Given the description of an element on the screen output the (x, y) to click on. 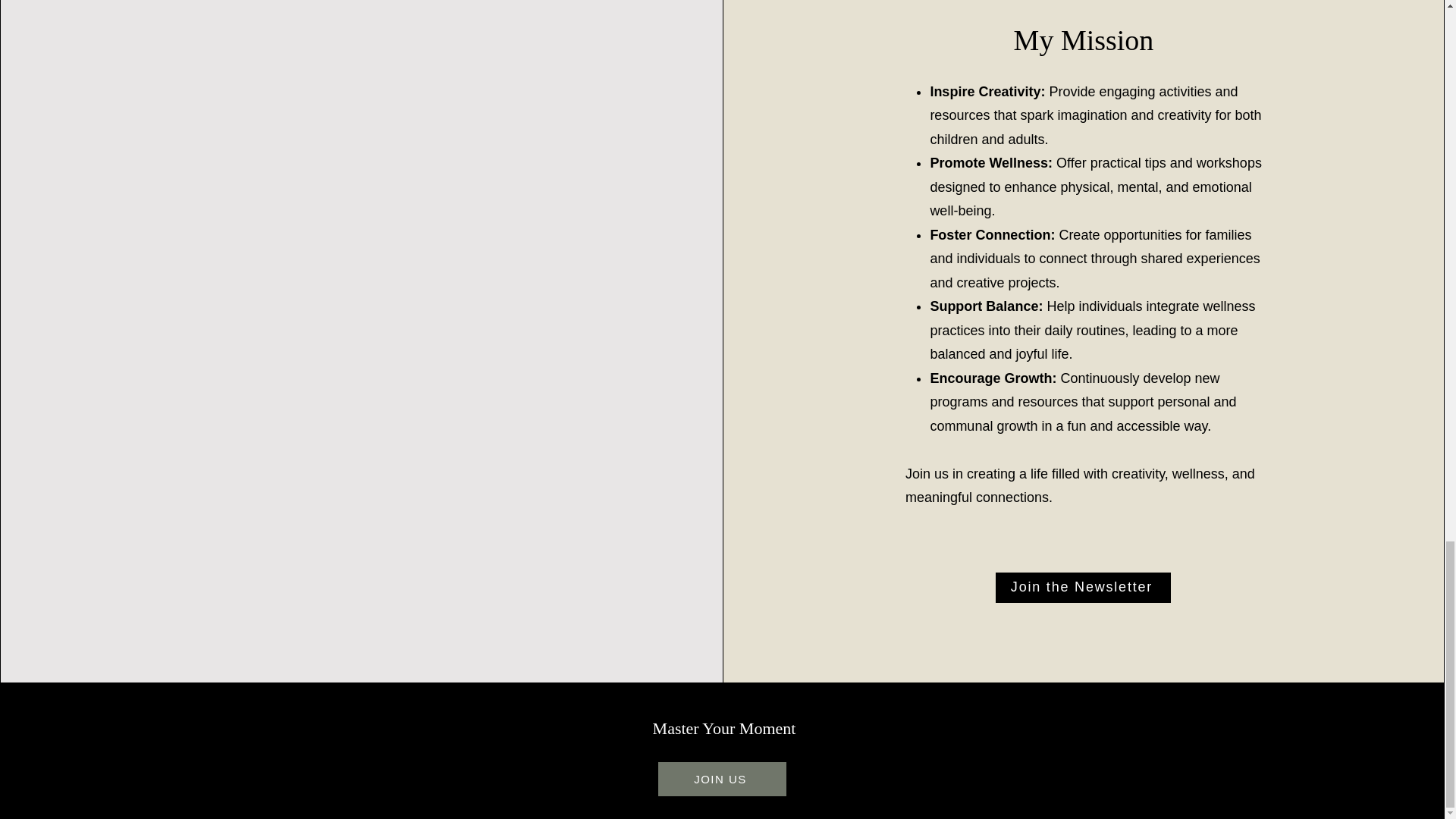
Master Your Moment (724, 728)
Join the Newsletter (1082, 587)
JOIN US (722, 779)
